Given the description of an element on the screen output the (x, y) to click on. 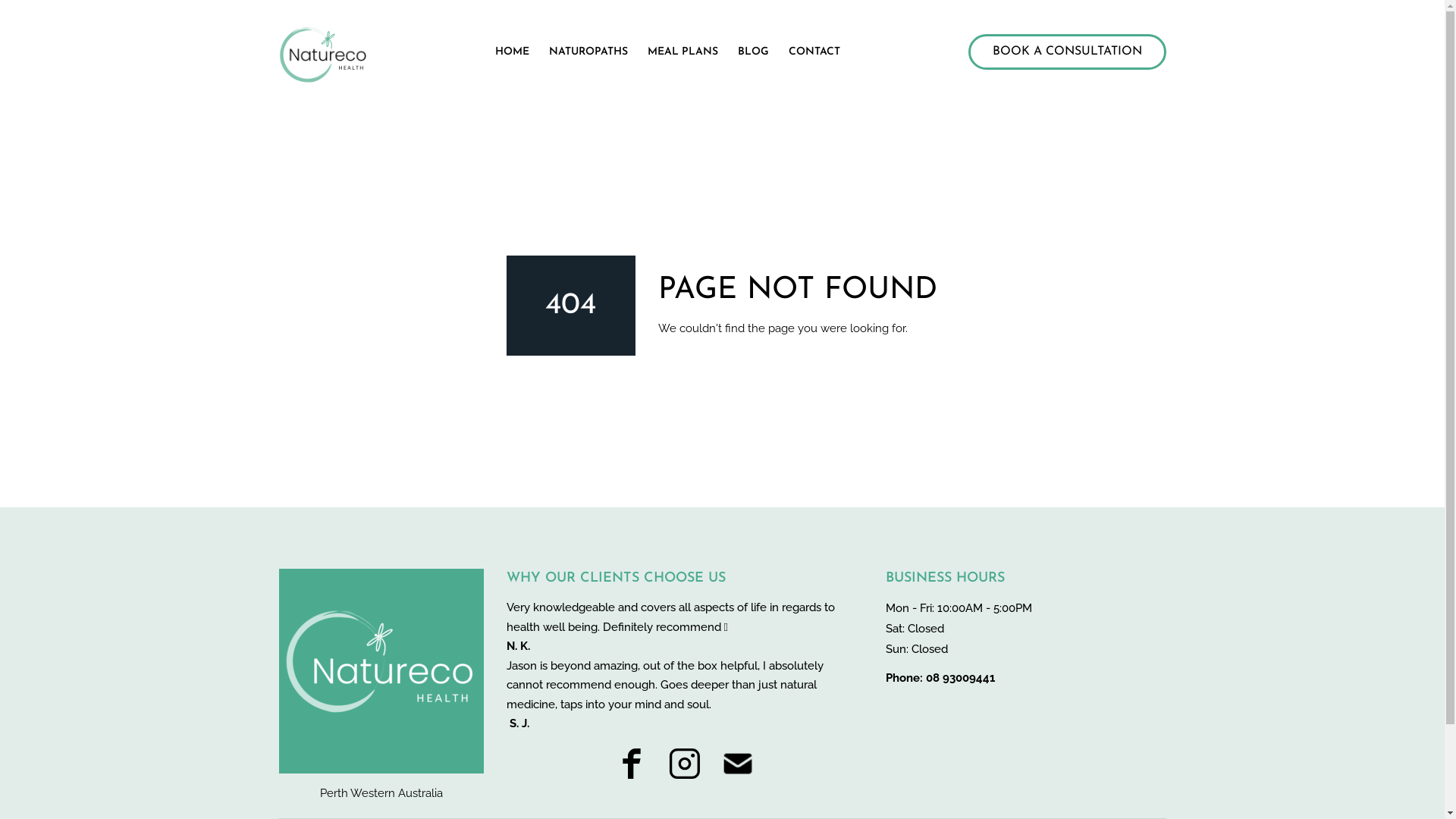
Phone: 08 93009441 Element type: text (939, 678)
CONTACT Element type: text (814, 51)
BLOG Element type: text (753, 51)
HOME Element type: text (512, 51)
NATUROPATHS Element type: text (587, 51)
MEAL PLANS Element type: text (682, 51)
BOOK A CONSULTATION Element type: text (1066, 51)
